Given the description of an element on the screen output the (x, y) to click on. 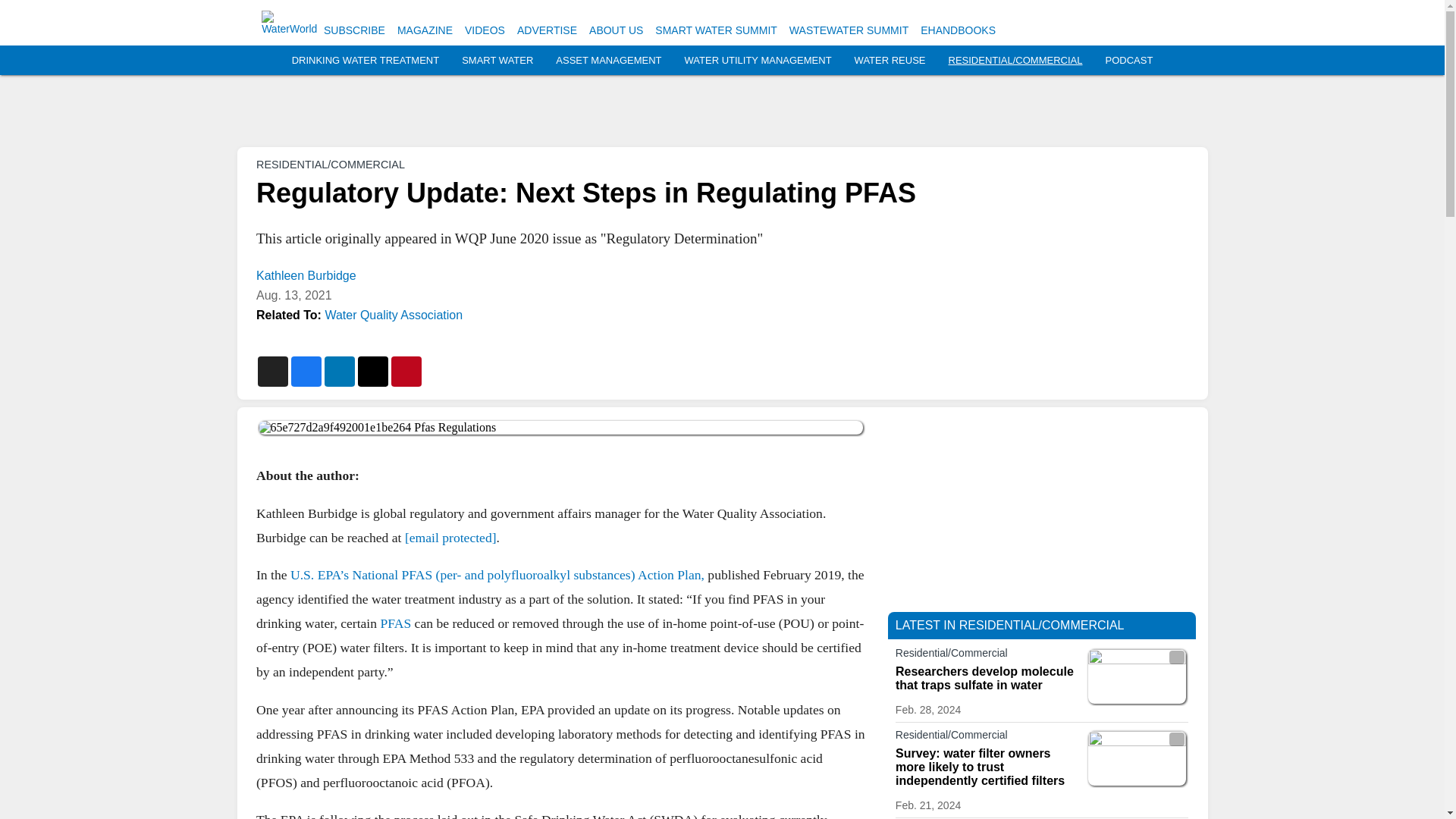
MAGAZINE (424, 30)
ABOUT US (616, 30)
SMART WATER (496, 60)
WATER REUSE (890, 60)
PFAS (395, 622)
ADVERTISE (546, 30)
65e727d2a9f492001e1be264 Pfas Regulations (559, 427)
EHANDBOOKS (957, 30)
SUBSCRIBE (354, 30)
PODCAST (1129, 60)
